Given the description of an element on the screen output the (x, y) to click on. 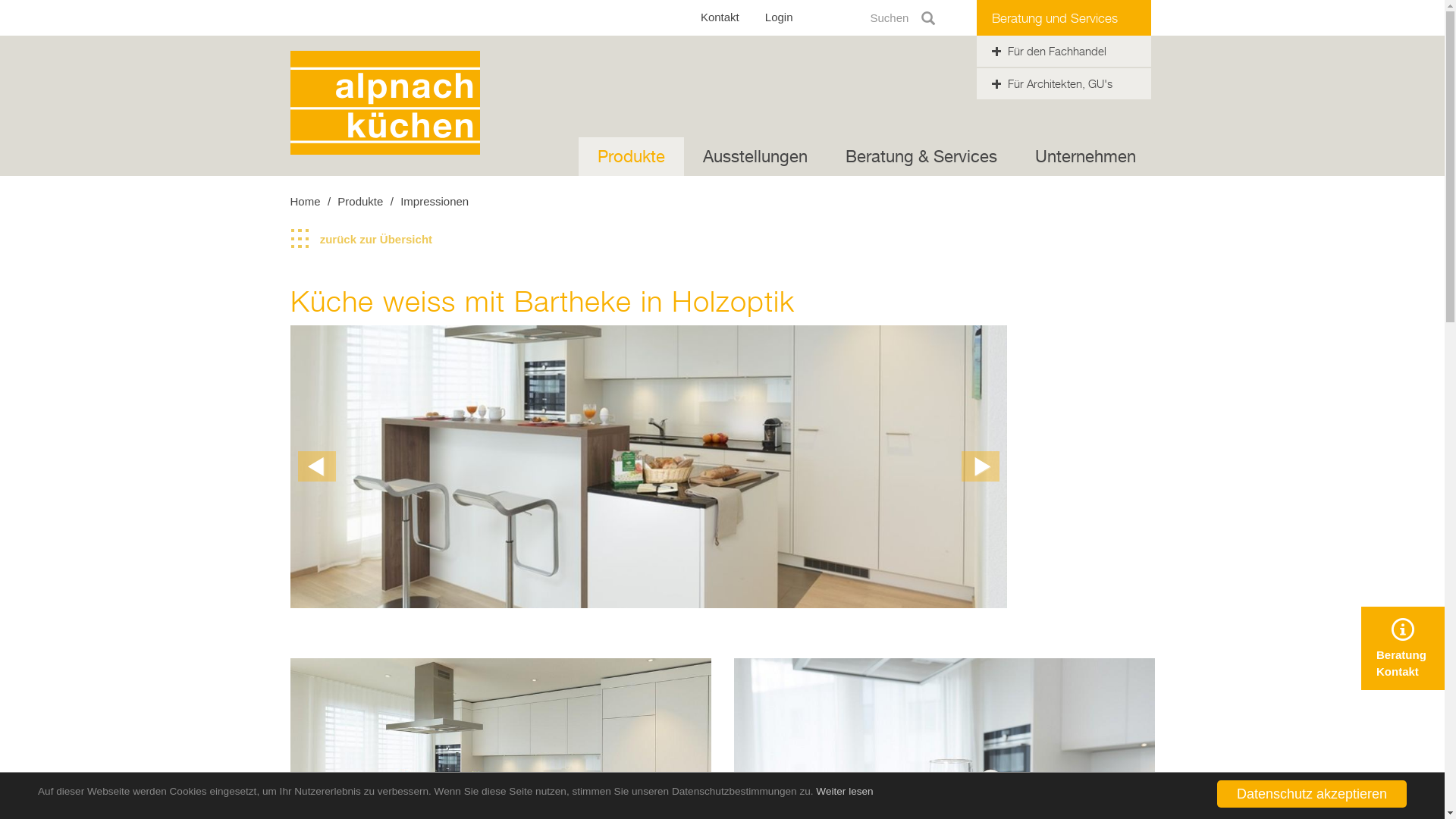
Beratung
Kontakt Element type: text (1402, 648)
Impressionen Element type: text (434, 200)
Beratung & Services Element type: text (921, 156)
Produkte Element type: text (359, 200)
Next Element type: text (980, 466)
Datenschutz akzeptieren Element type: text (1311, 793)
Startseite Element type: hover (384, 100)
Previous Element type: text (316, 466)
Ausstellungen Element type: text (755, 156)
Produkte Element type: text (630, 156)
Kontakt Element type: text (719, 16)
Home Element type: text (304, 200)
Suchen Element type: text (901, 17)
Unternehmen Element type: text (1085, 156)
Weiter lesen Element type: text (843, 791)
Login Element type: text (779, 16)
